Given the description of an element on the screen output the (x, y) to click on. 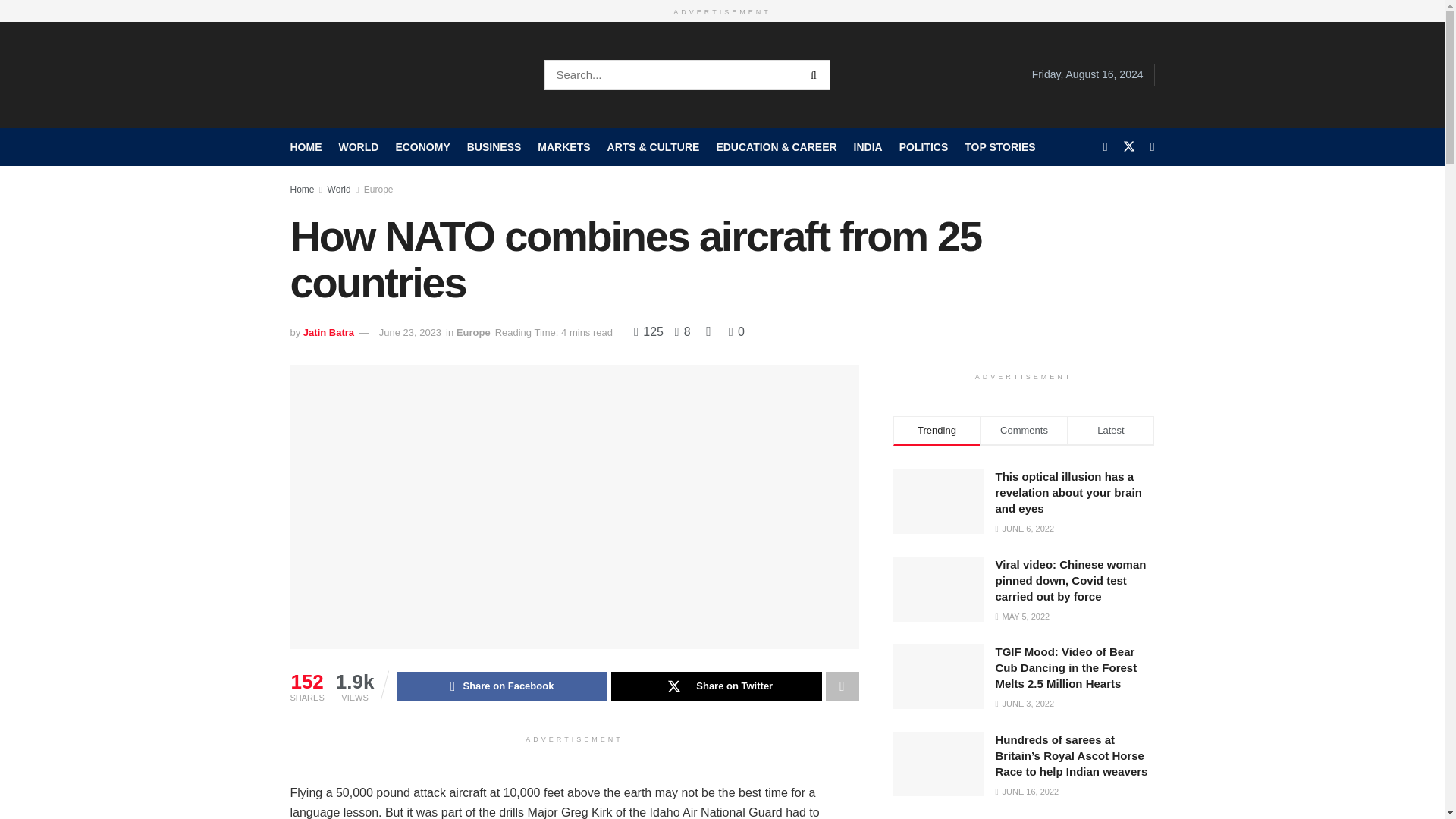
WORLD (357, 146)
POLITICS (924, 146)
TOP STORIES (999, 146)
BUSINESS (494, 146)
ECONOMY (421, 146)
MARKETS (563, 146)
